Given the description of an element on the screen output the (x, y) to click on. 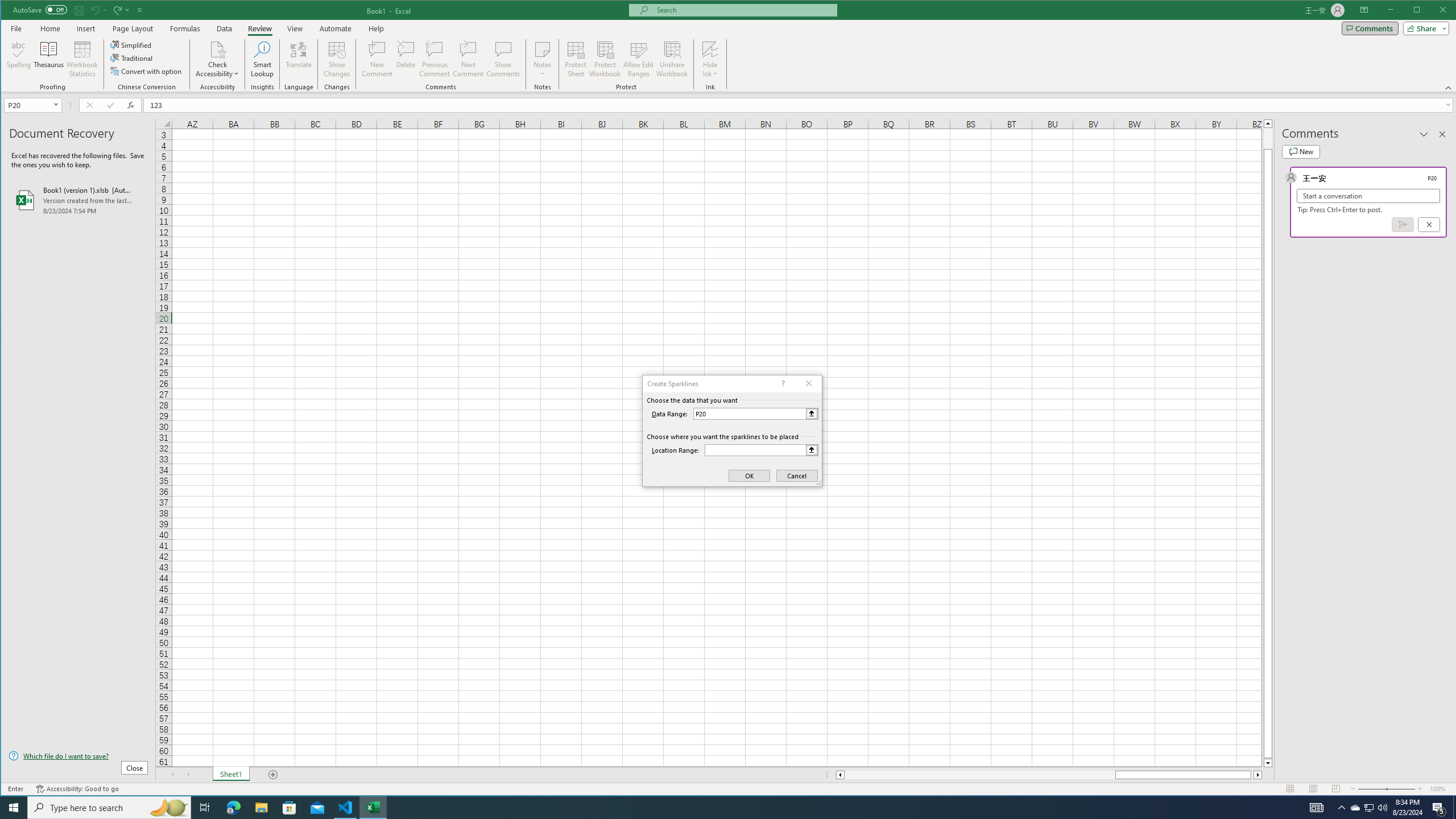
Task Pane Options (1423, 133)
Comments (1369, 28)
Thesaurus... (48, 59)
System (11, 10)
Check Accessibility (217, 48)
Home (50, 28)
Scroll Left (172, 774)
Previous Comment (434, 59)
Page right (1251, 774)
Formulas (184, 28)
Spelling... (18, 59)
Translate (298, 59)
Customize Quick Access Toolbar (140, 9)
